Given the description of an element on the screen output the (x, y) to click on. 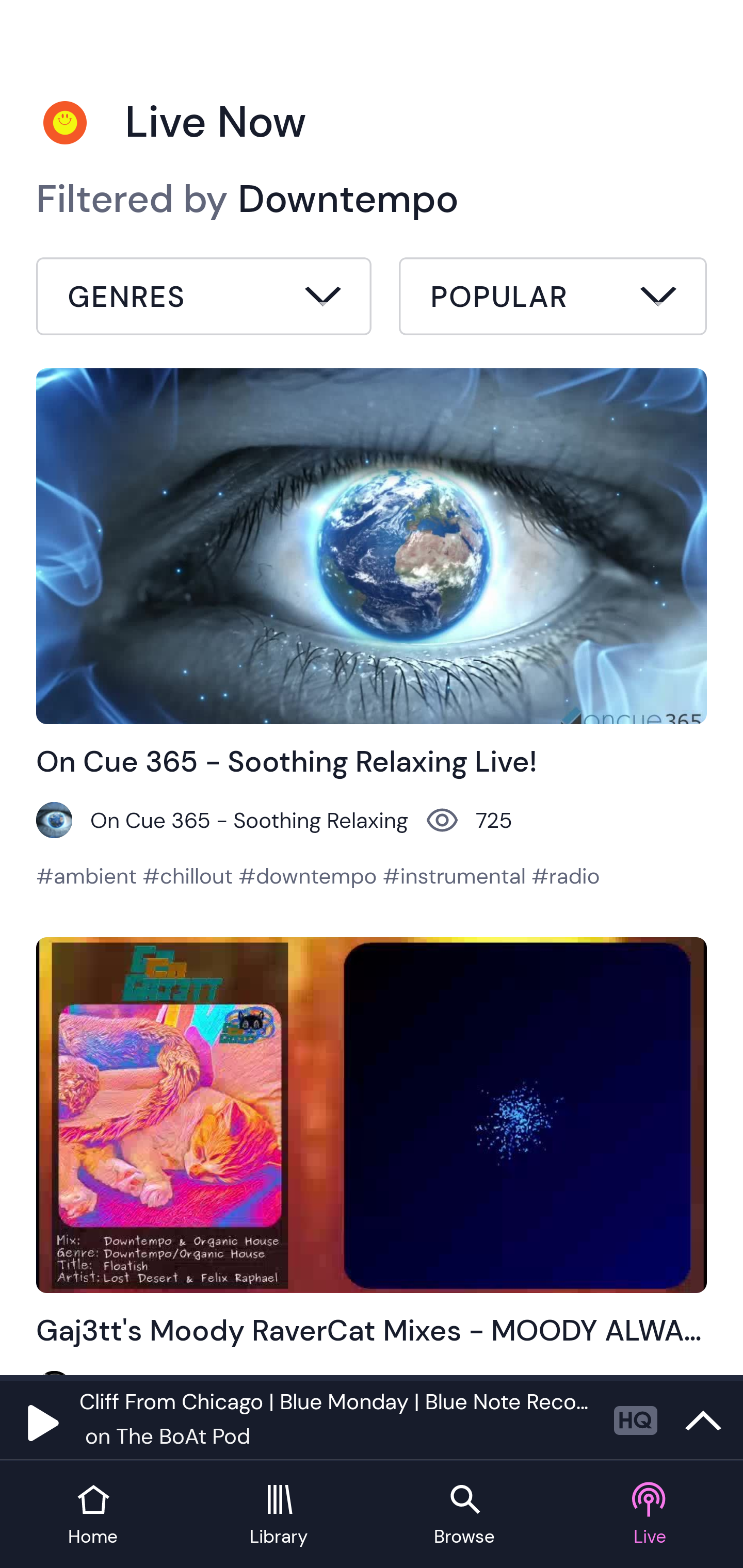
Filter by button Downtempo (203, 299)
Sort by button Popular (552, 299)
Home tab Home (92, 1515)
Library tab Library (278, 1515)
Browse tab Browse (464, 1515)
Live tab Live (650, 1515)
